Given the description of an element on the screen output the (x, y) to click on. 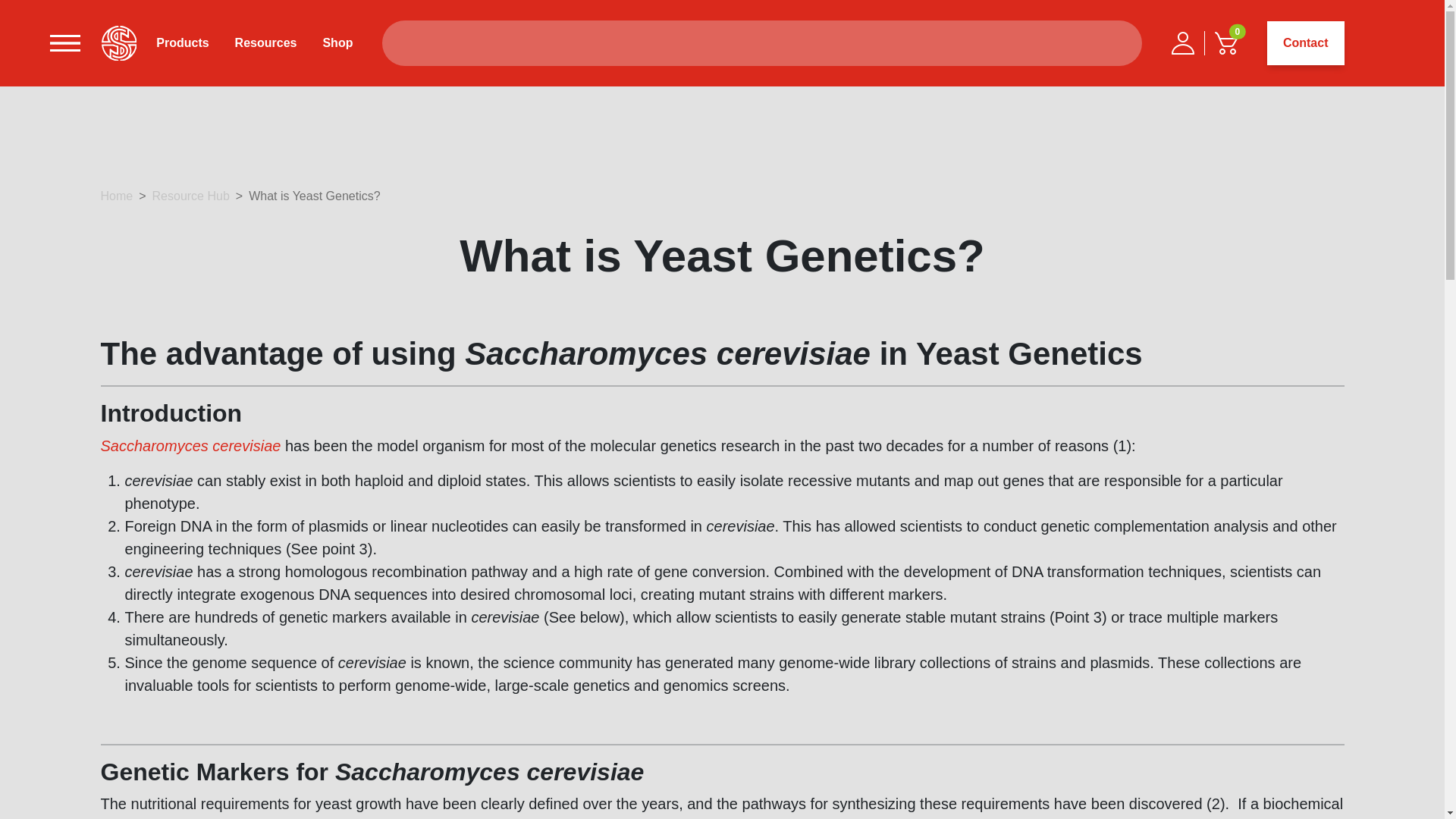
Products (188, 43)
Shop (330, 43)
Resources (266, 43)
View your shopping basket (1226, 43)
